Given the description of an element on the screen output the (x, y) to click on. 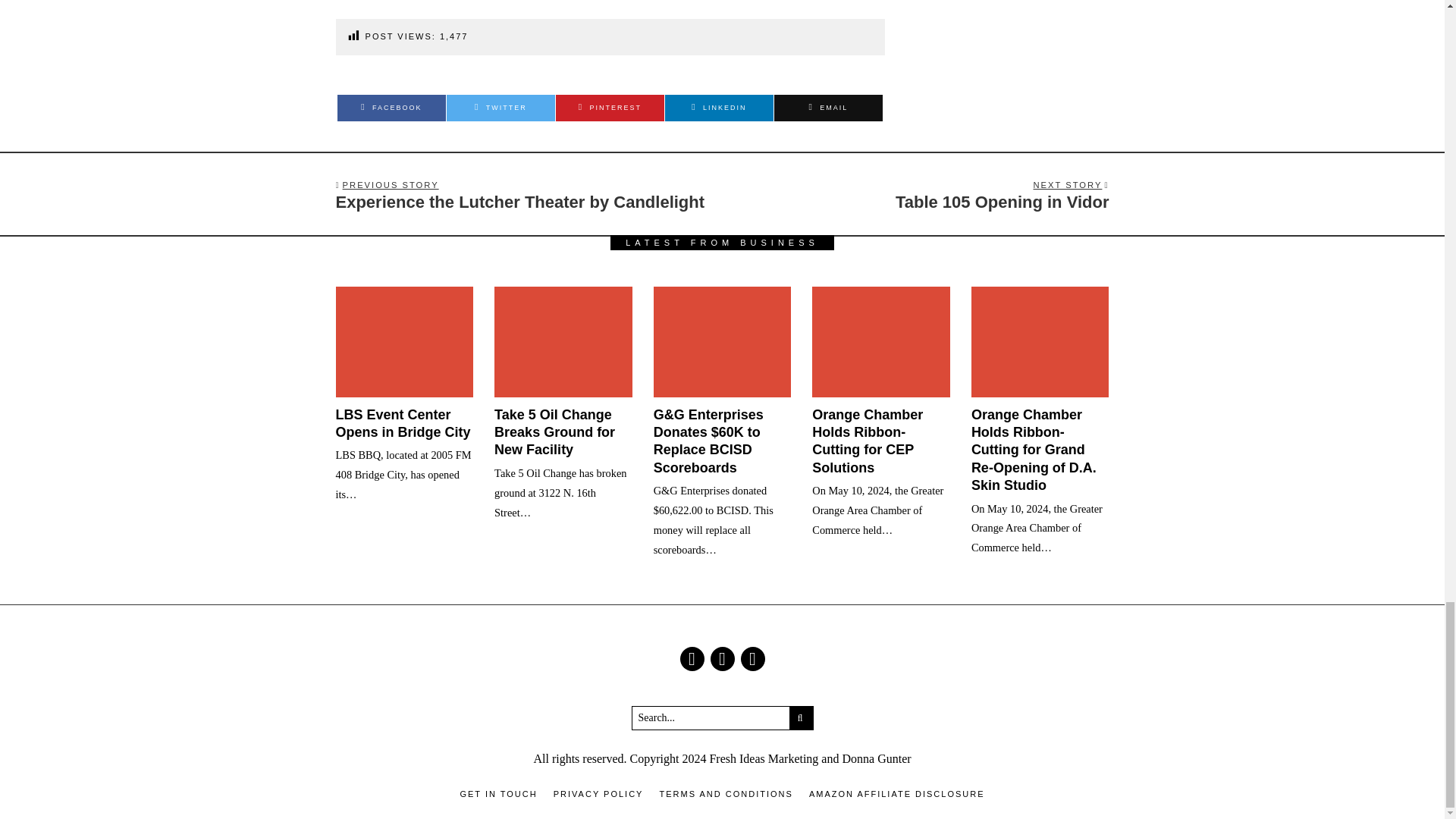
TWITTER (500, 108)
Email (751, 658)
Instagram (721, 658)
Email (828, 108)
Pinterest (609, 108)
EMAIL (828, 108)
Facebook (691, 658)
Facebook (391, 108)
Linkedin (719, 108)
LINKEDIN (719, 108)
FACEBOOK (919, 194)
PINTEREST (391, 108)
Twitter (609, 108)
